Given the description of an element on the screen output the (x, y) to click on. 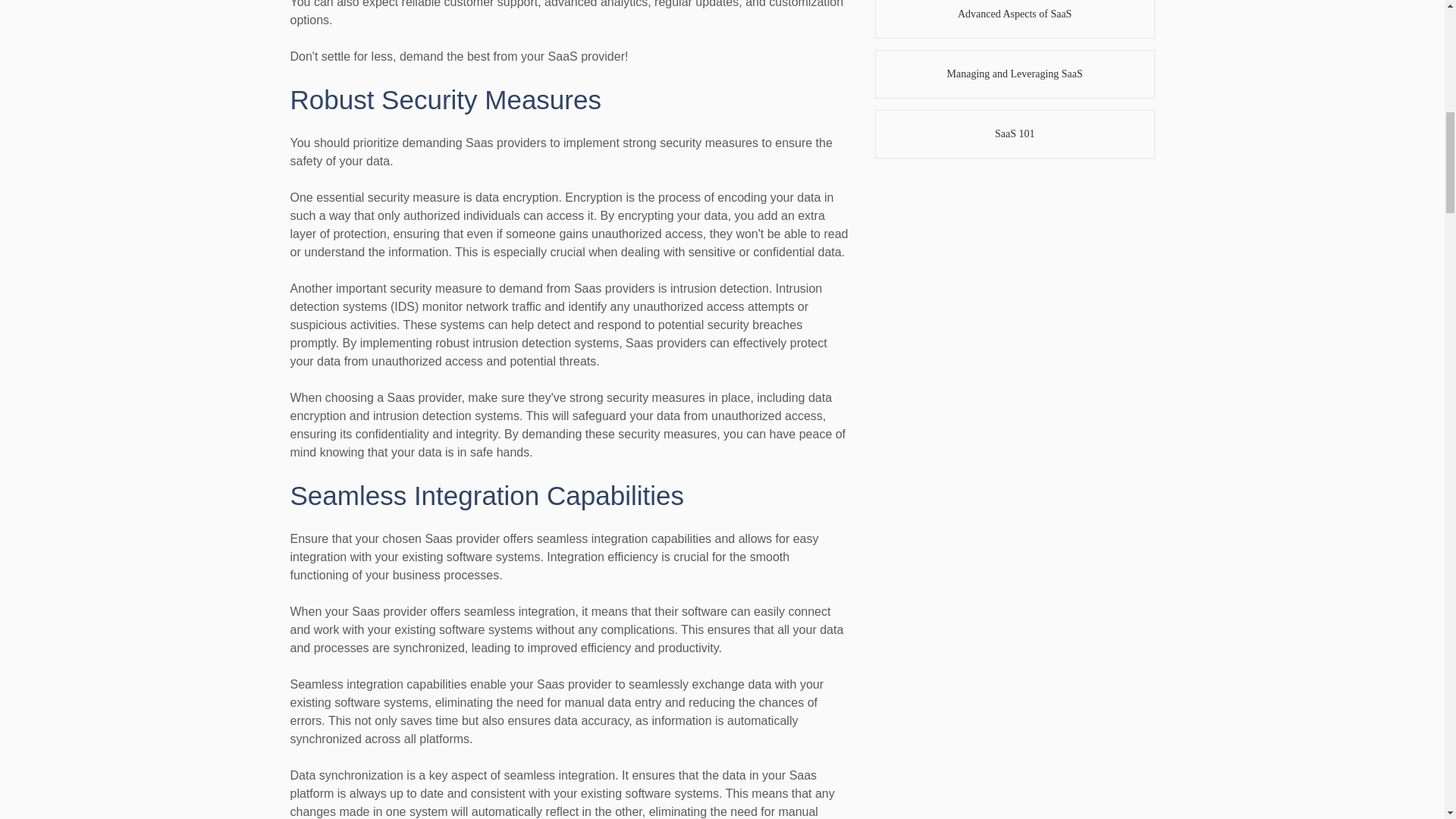
Managing and Leveraging SaaS (1014, 73)
Advanced Aspects of SaaS (1014, 19)
SaaS 101 (1014, 133)
